Given the description of an element on the screen output the (x, y) to click on. 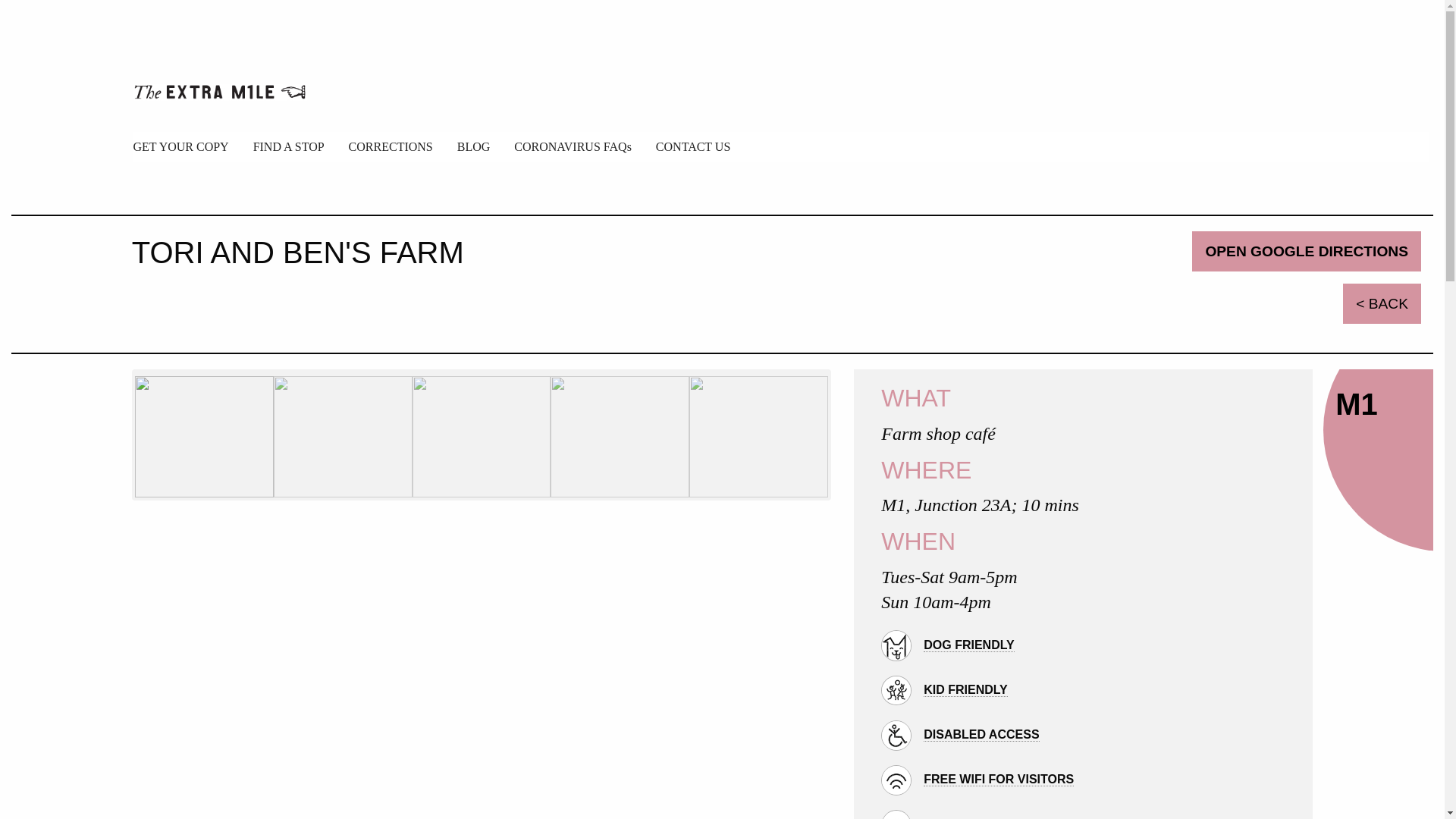
OPEN GOOGLE DIRECTIONS (1306, 250)
CORRECTIONS (390, 145)
GET YOUR COPY (180, 145)
BLOG (473, 145)
CONTACT US (692, 145)
FIND A STOP (288, 145)
Return to venues list (1381, 303)
CORONAVIRUS FAQs (572, 145)
